Given the description of an element on the screen output the (x, y) to click on. 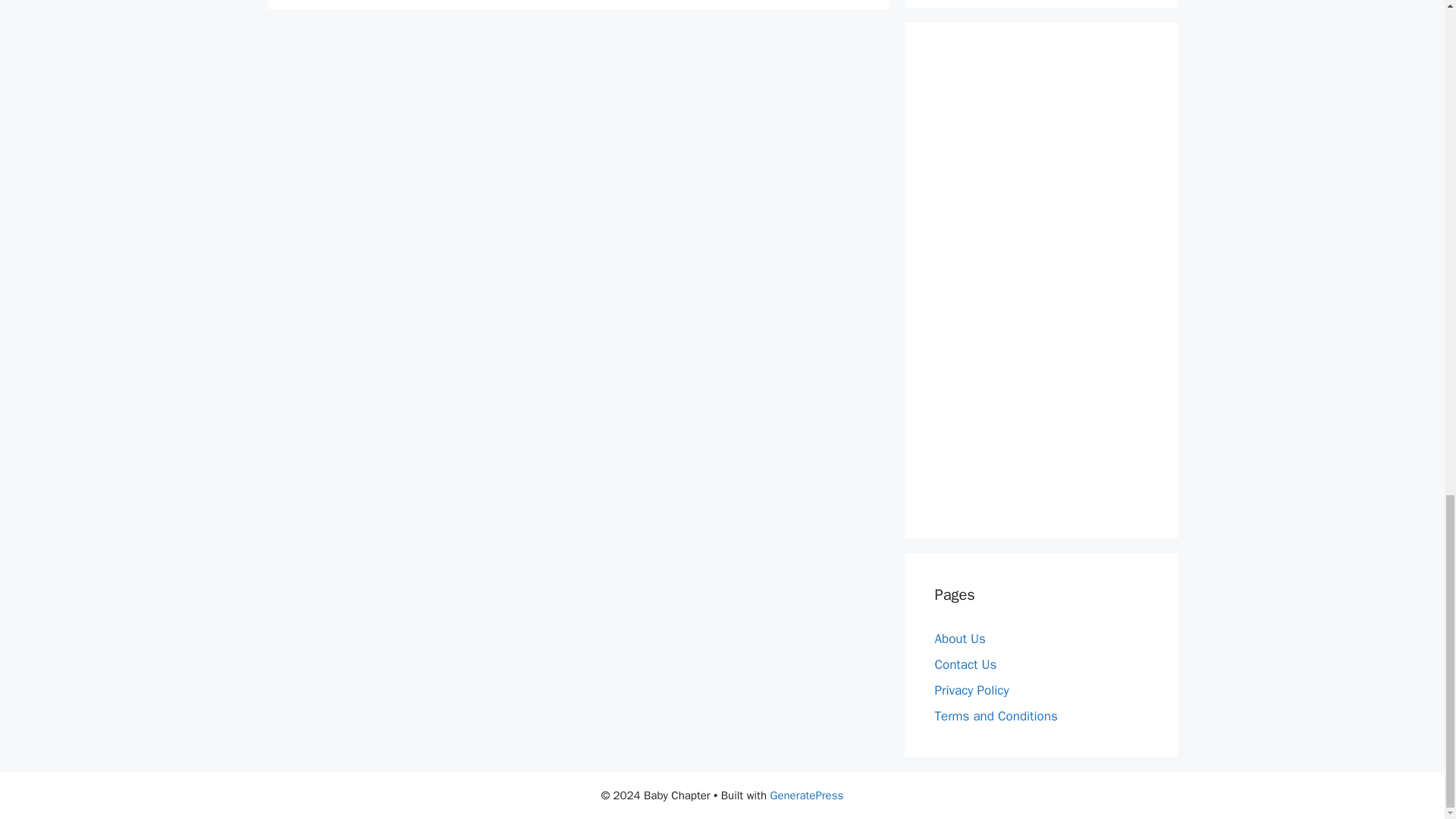
About Us (959, 638)
GeneratePress (807, 795)
Privacy Policy (971, 690)
Terms and Conditions (995, 715)
Contact Us (964, 664)
